Given the description of an element on the screen output the (x, y) to click on. 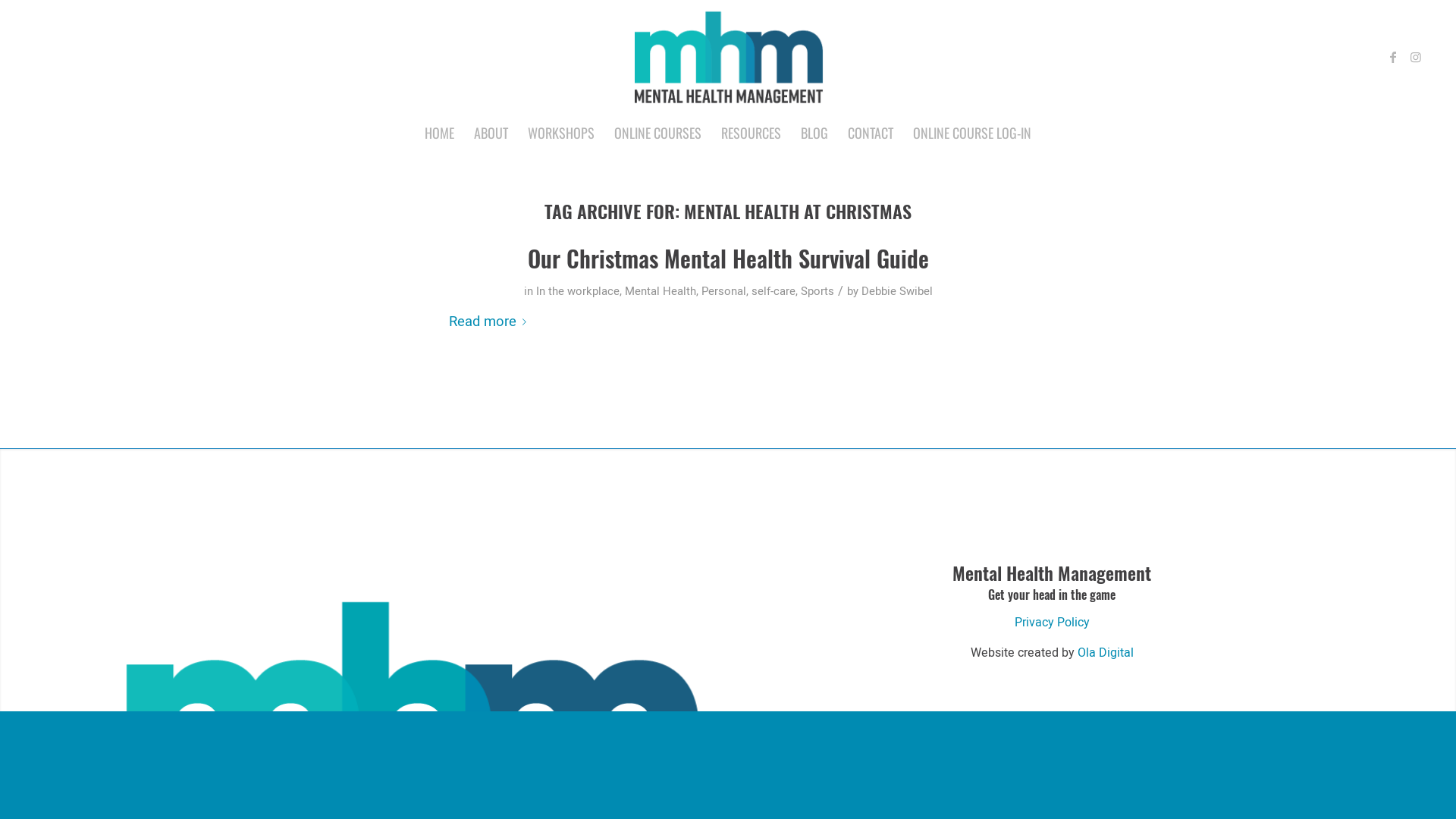
BLOG Element type: text (813, 132)
Debbie Swibel Element type: text (896, 290)
ABOUT Element type: text (490, 132)
WORKSHOPS Element type: text (560, 132)
ONLINE COURSES Element type: text (657, 132)
Read more Element type: text (490, 321)
CONTACT Element type: text (870, 132)
ONLINE COURSE LOG-IN Element type: text (972, 132)
Our Christmas Mental Health Survival Guide Element type: text (727, 258)
Facebook Element type: hover (1392, 56)
Mental Health Element type: text (660, 290)
Privacy Policy Element type: text (1051, 622)
Personal Element type: text (722, 290)
Ola Digital Element type: text (1105, 652)
Instagram Element type: hover (1415, 56)
In the workplace Element type: text (576, 290)
Sports Element type: text (817, 290)
RESOURCES Element type: text (750, 132)
HOME Element type: text (439, 132)
self-care Element type: text (772, 290)
